Given the description of an element on the screen output the (x, y) to click on. 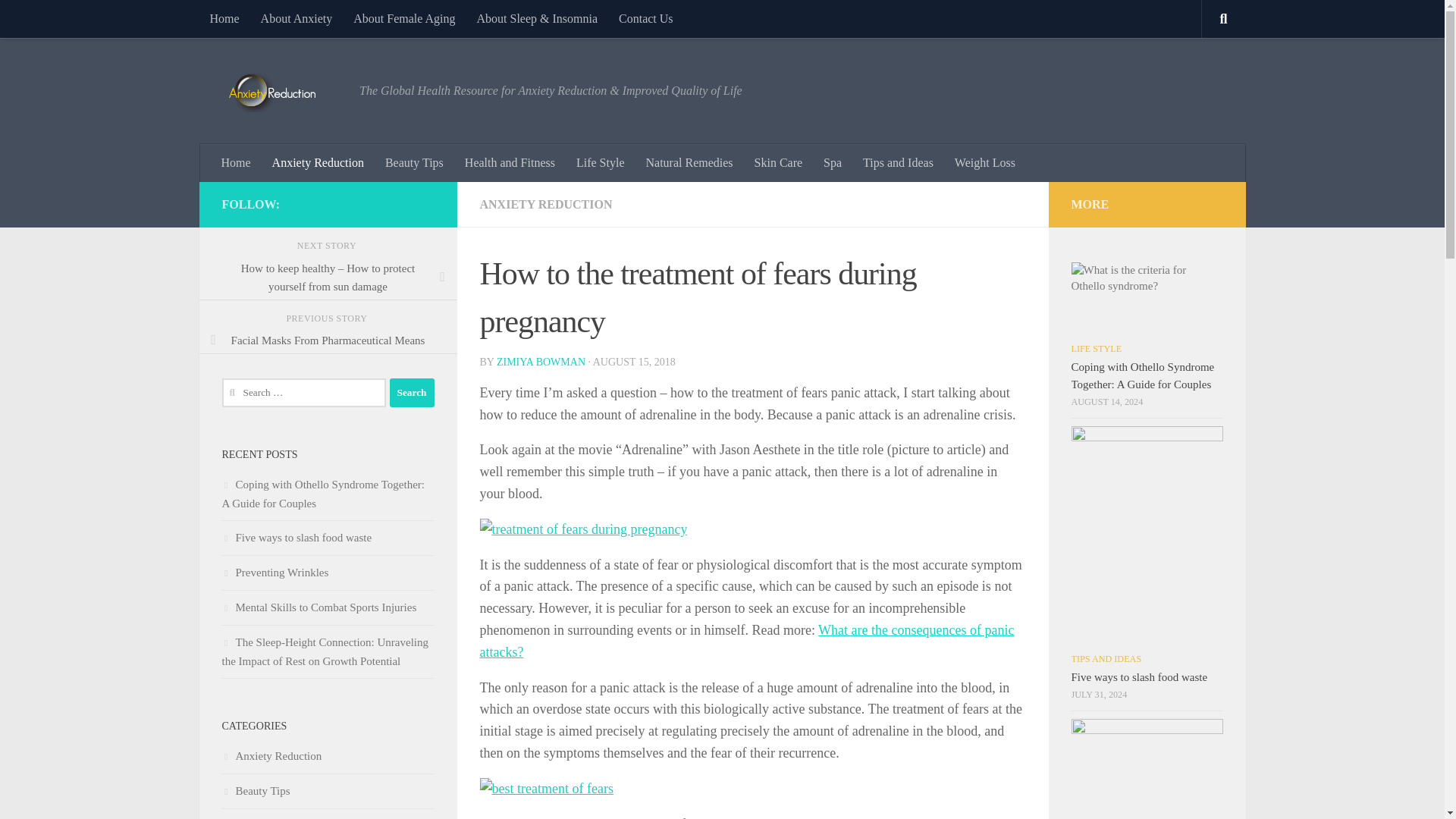
About Female Aging (403, 18)
Beauty Tips (414, 162)
Skin Care (778, 162)
Contact Us (646, 18)
ANXIETY REDUCTION (545, 204)
Posts by Zimiya Bowman (540, 361)
Search (411, 392)
About Anxiety (296, 18)
Life Style (600, 162)
Search (411, 392)
